Given the description of an element on the screen output the (x, y) to click on. 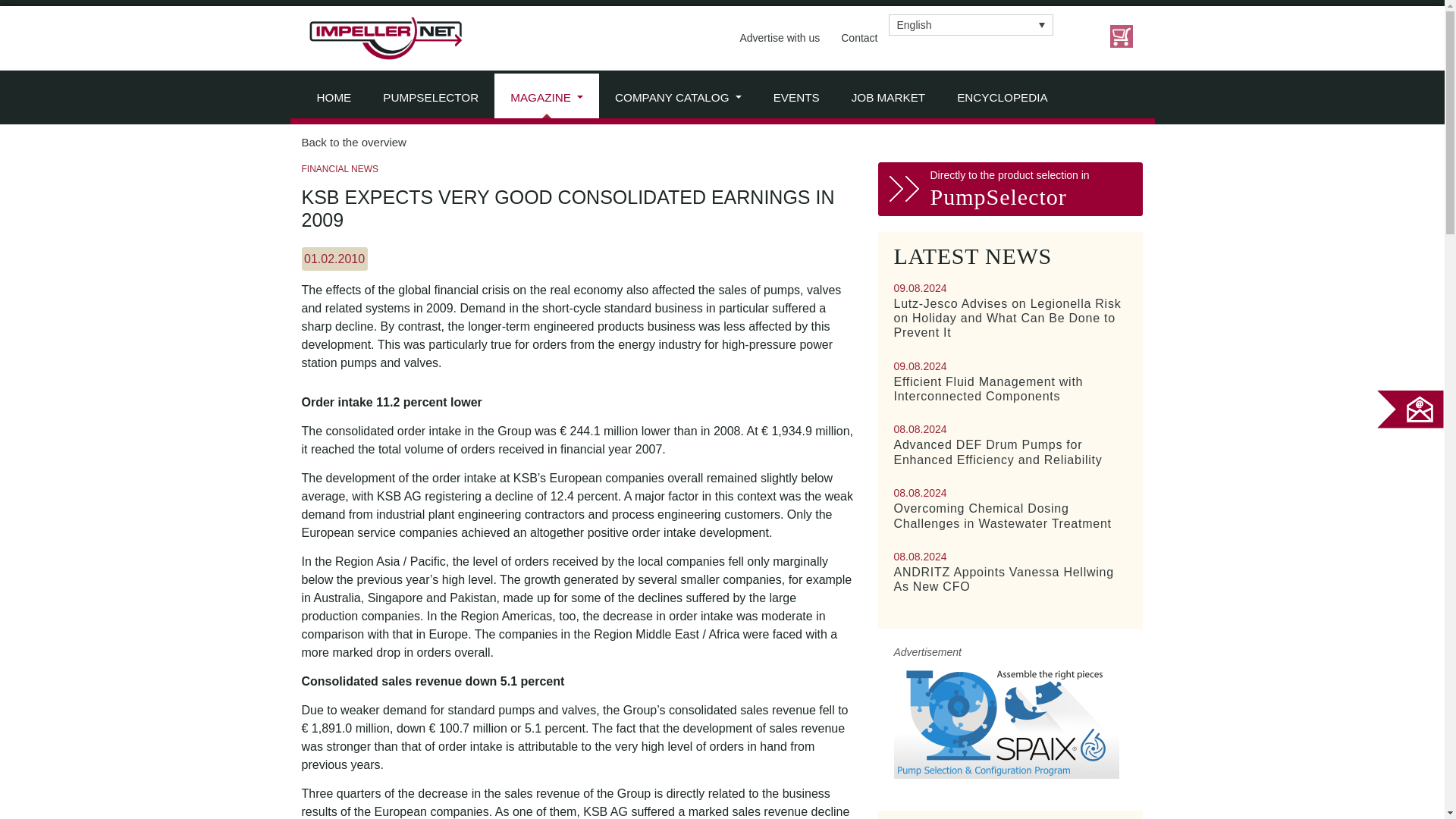
Back to the overview (721, 142)
Contact (858, 37)
ENCYCLOPEDIA (1002, 97)
FINANCIAL NEWS (339, 168)
MAGAZINE (546, 97)
English (970, 24)
PUMPSELECTOR (430, 97)
HOME (332, 97)
JOB MARKET (887, 97)
Advertise with us (779, 37)
